Given the description of an element on the screen output the (x, y) to click on. 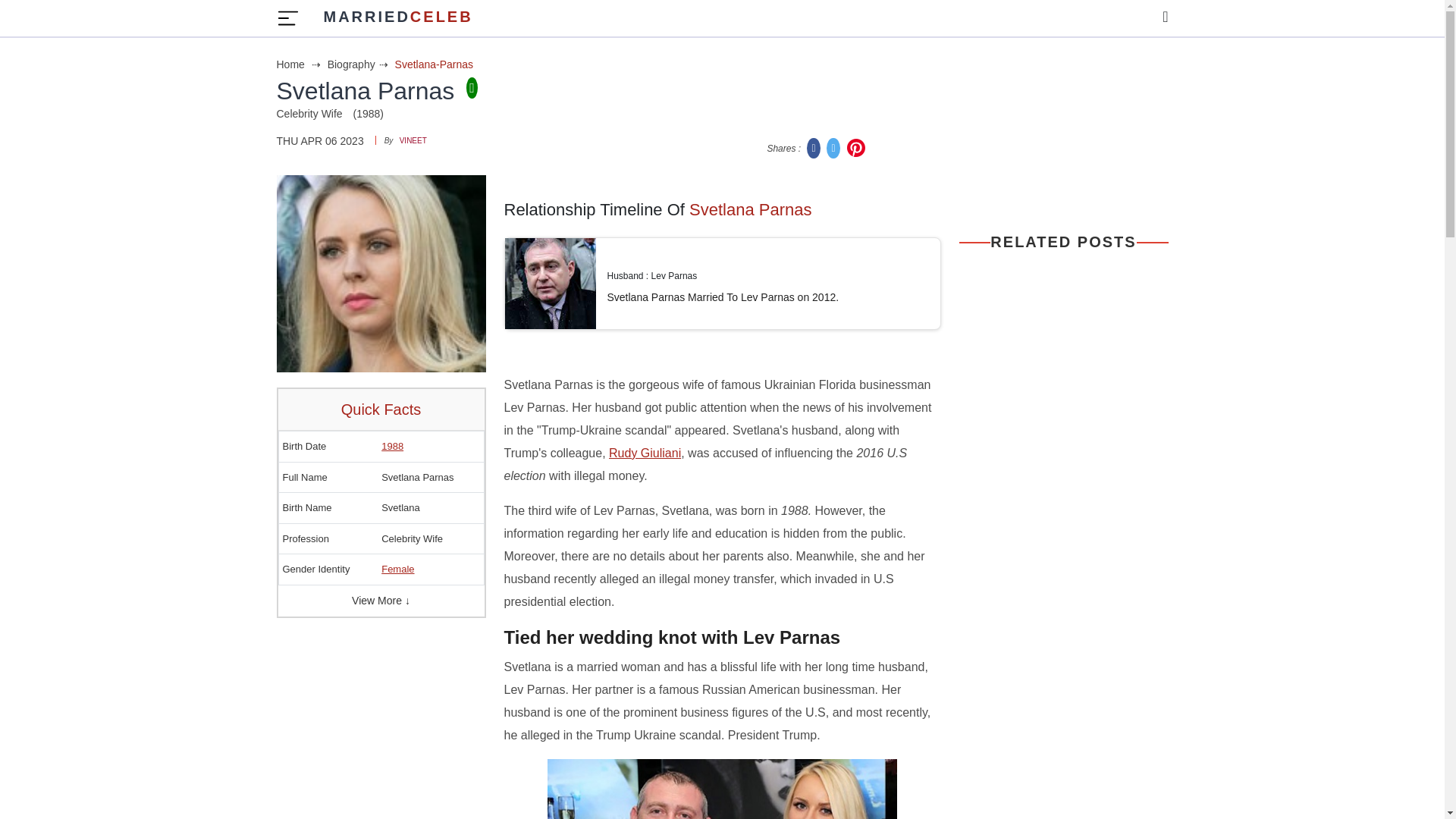
1988 (392, 446)
Female (397, 568)
Facebook (814, 147)
VINEET (412, 140)
Biography (397, 18)
Twitter (359, 64)
Pinterest (835, 147)
Home (854, 147)
Rudy Giuliani (299, 64)
